Given the description of an element on the screen output the (x, y) to click on. 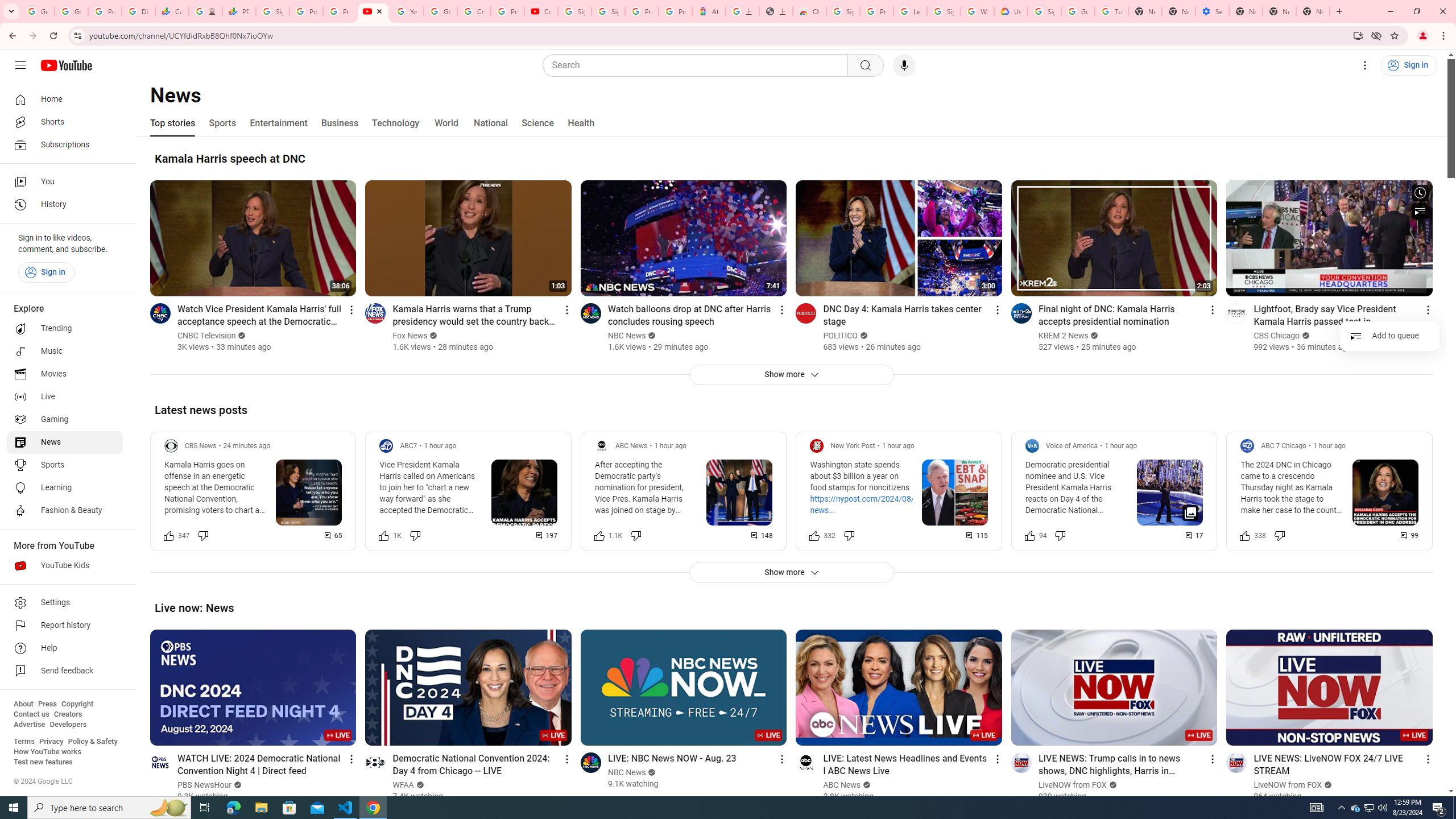
Go to channel (1236, 762)
Settings (1365, 65)
Settings (64, 602)
PDD Holdings Inc - ADR (PDD) Price & News - Google Finance (238, 11)
PBS NewsHour (204, 784)
Create your Google Account (474, 11)
Subscriptions (64, 144)
Live (64, 396)
https://nypost.com/2024/08/21/us-news... (873, 504)
ABC7 (408, 445)
Like this post along with 332 other people (814, 534)
